Given the description of an element on the screen output the (x, y) to click on. 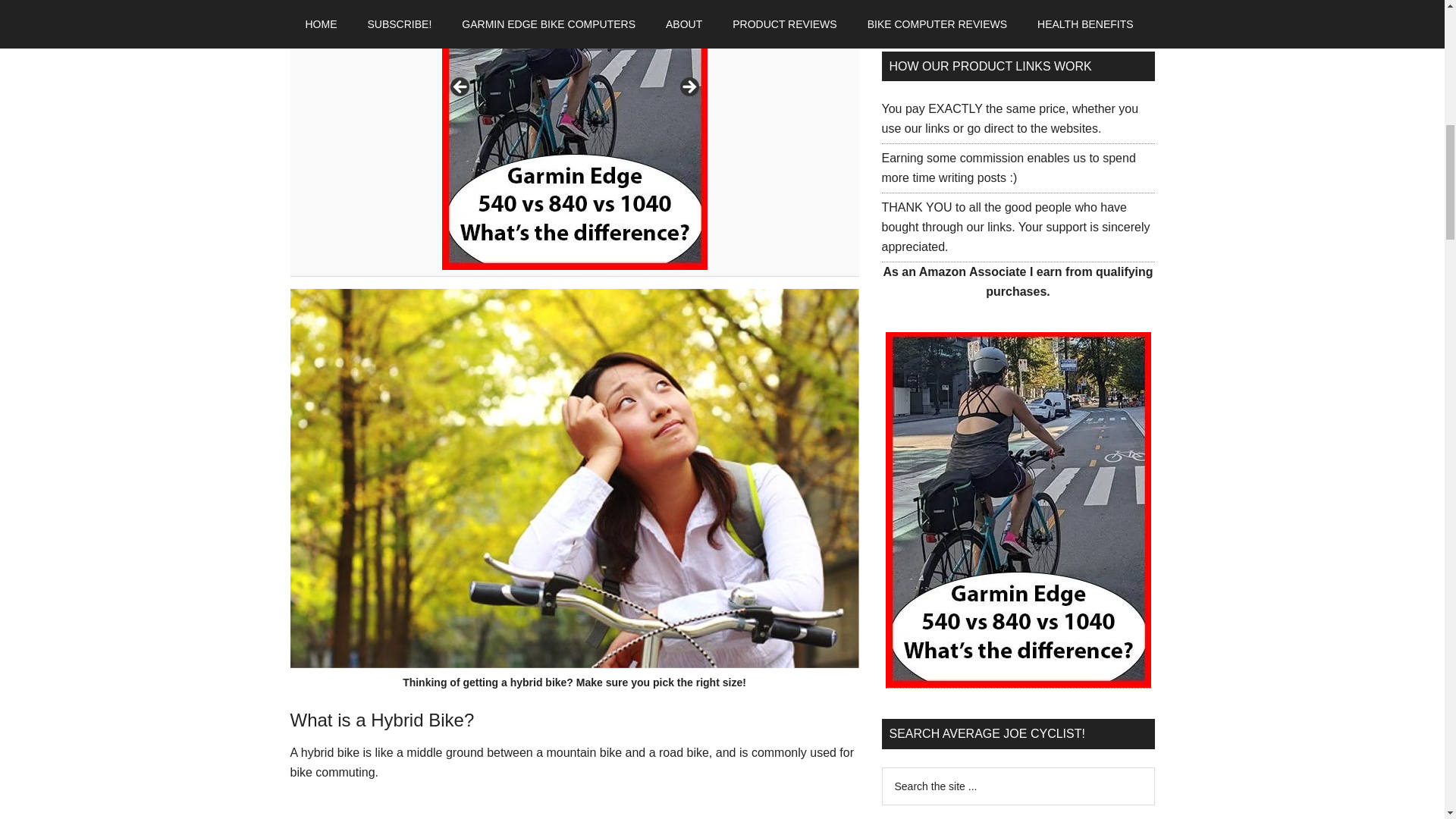
Slide 540 vs 840 vs 1040 2 copy (308, 135)
Slide 540 vs 840 vs 1040 copy (573, 135)
